Given the description of an element on the screen output the (x, y) to click on. 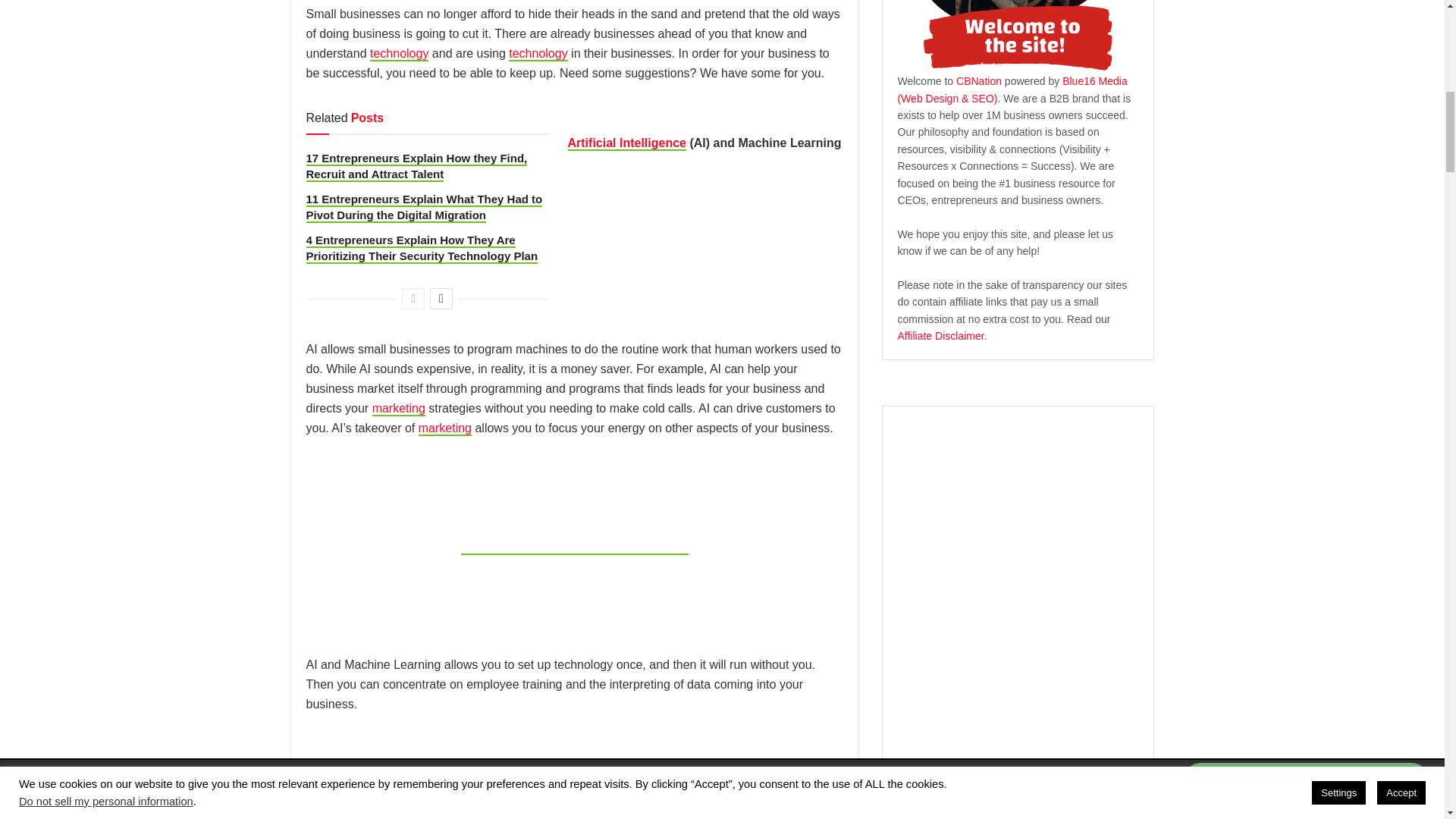
Next (440, 298)
Previous (413, 298)
CEO Hacks - Sales (445, 428)
CEO Hacks - Sales (398, 409)
